Given the description of an element on the screen output the (x, y) to click on. 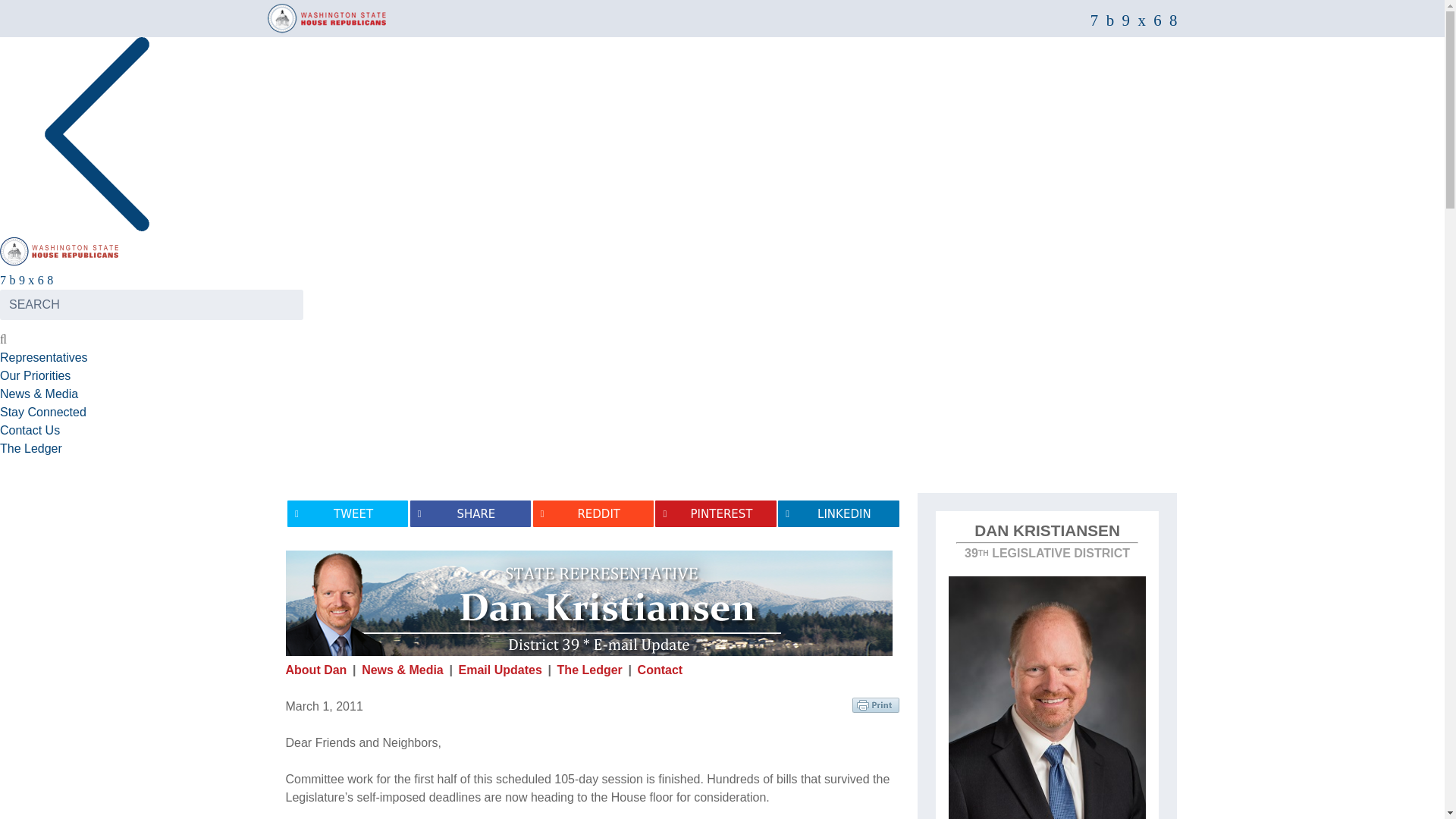
Tweet on Twitter (346, 513)
Stay Connected (42, 411)
The Ledger (31, 448)
Contact Us (29, 430)
Share on Pinterest (715, 513)
Contact (659, 669)
PINTEREST (715, 513)
Representatives (43, 357)
The Ledger (590, 669)
Email Updates (499, 669)
